Given the description of an element on the screen output the (x, y) to click on. 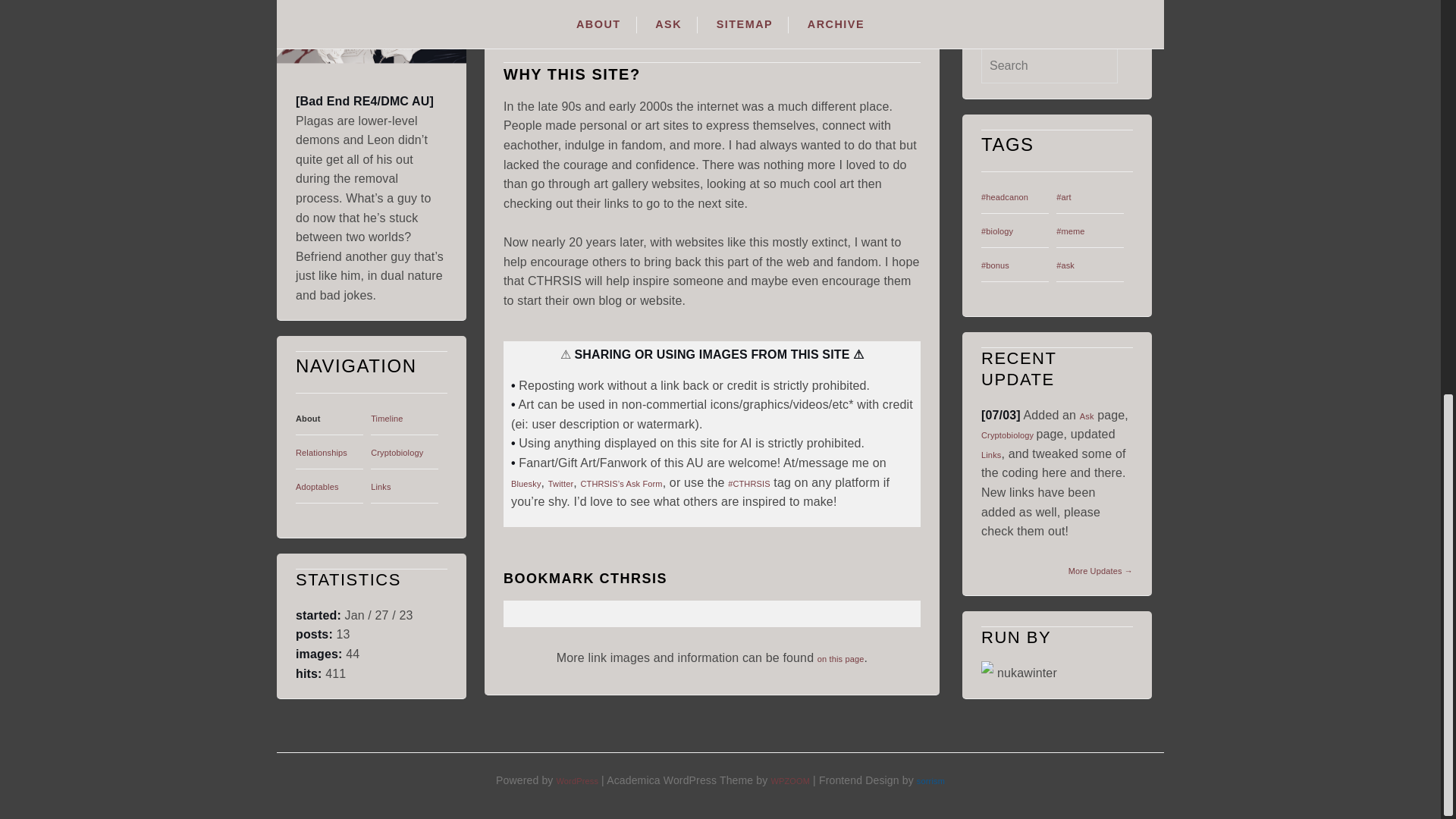
Timeline (387, 8)
About (307, 8)
Links (380, 76)
Cryptobiology (397, 42)
on this page (840, 658)
Adoptables (317, 76)
Twitter (560, 483)
Bluesky (526, 483)
Relationships (321, 42)
